Given the description of an element on the screen output the (x, y) to click on. 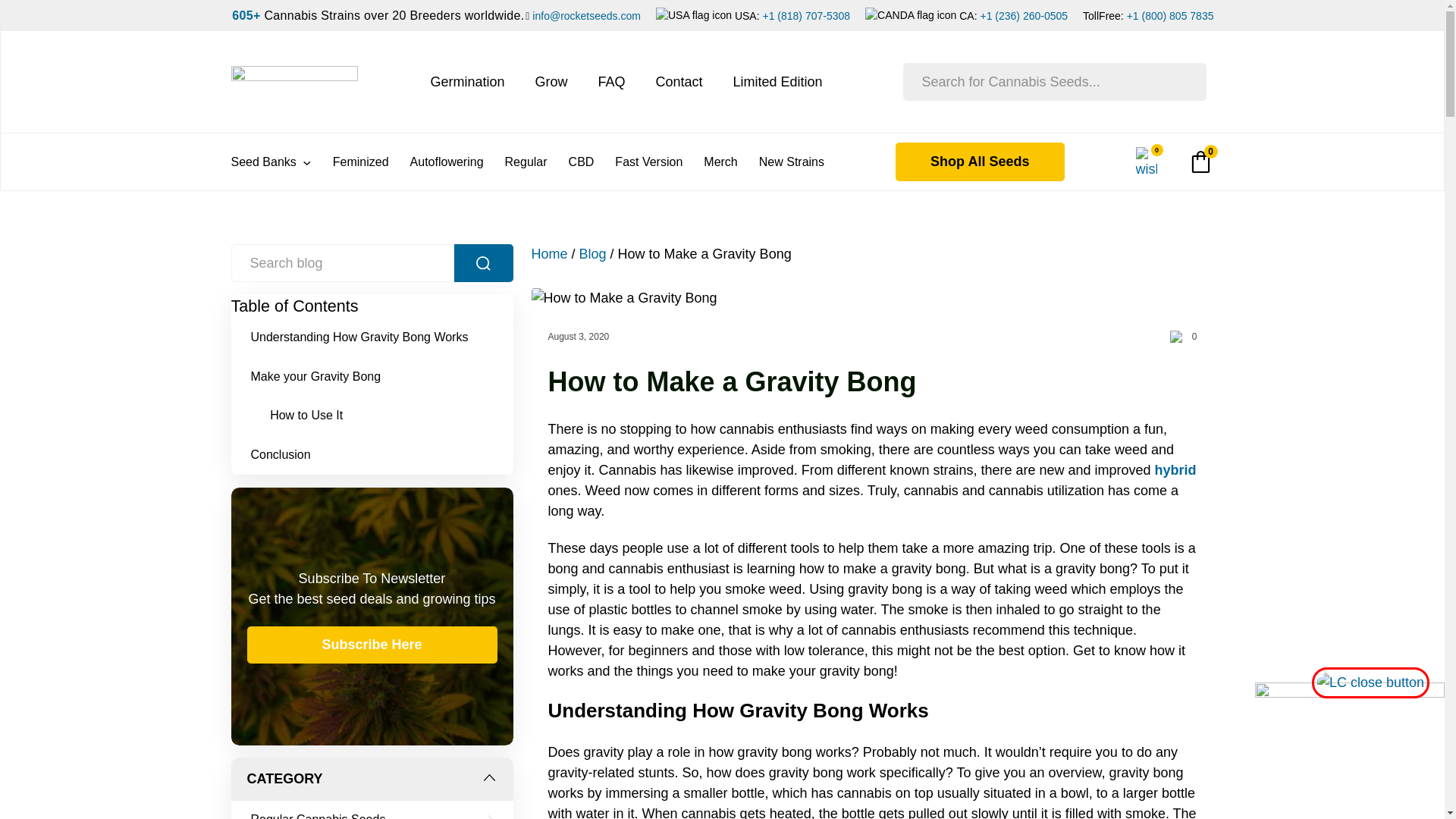
Make your Gravity Bong (320, 376)
Germination (466, 81)
Grow (550, 81)
Contact (678, 81)
FAQ (610, 81)
How to Use It (311, 414)
Seed Banks (270, 161)
Limited Edition (777, 81)
Understanding How Gravity Bong Works (363, 337)
